Given the description of an element on the screen output the (x, y) to click on. 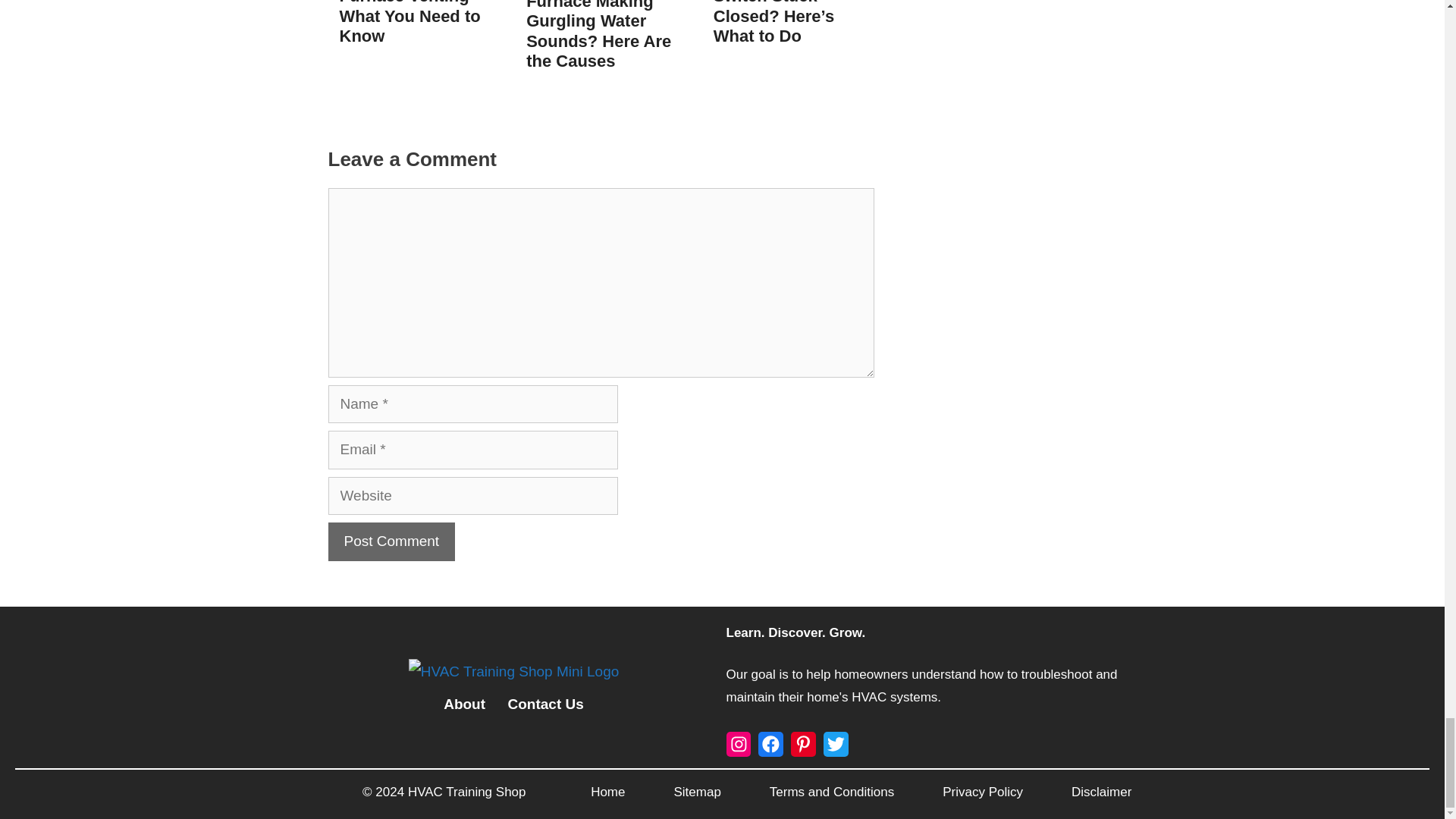
Post Comment (390, 541)
